Given the description of an element on the screen output the (x, y) to click on. 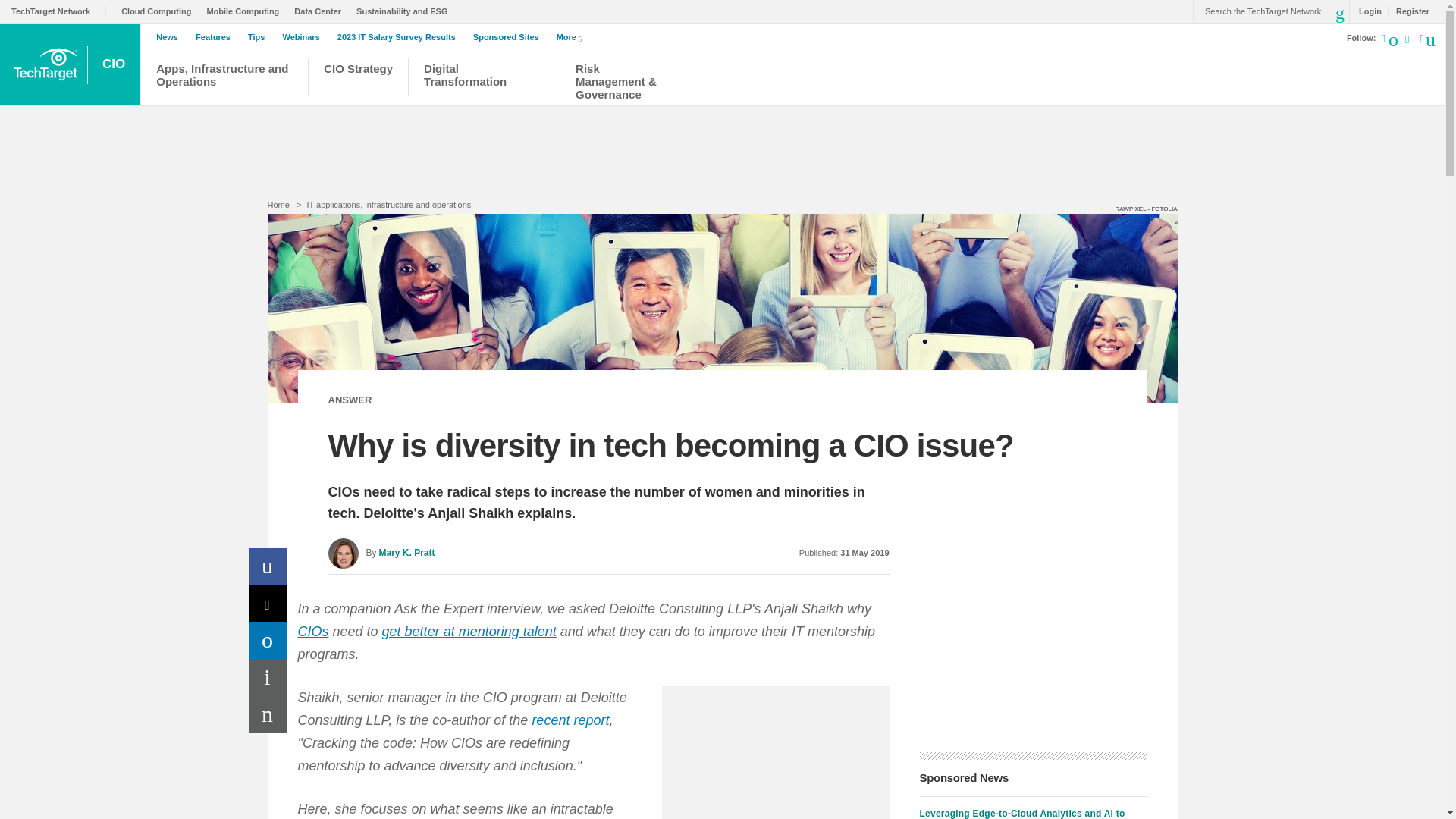
Webinars (304, 36)
CIO Strategy (358, 79)
Home (277, 204)
Share on LinkedIn (267, 640)
Apps, Infrastructure and Operations (223, 79)
Email a Friend (267, 714)
Digital Transformation (483, 79)
Sustainability and ESG (405, 10)
Print This Page (267, 677)
Register (1408, 10)
Sponsored Sites (510, 36)
Tips (259, 36)
Features (216, 36)
Share on Facebook (267, 565)
News (170, 36)
